Given the description of an element on the screen output the (x, y) to click on. 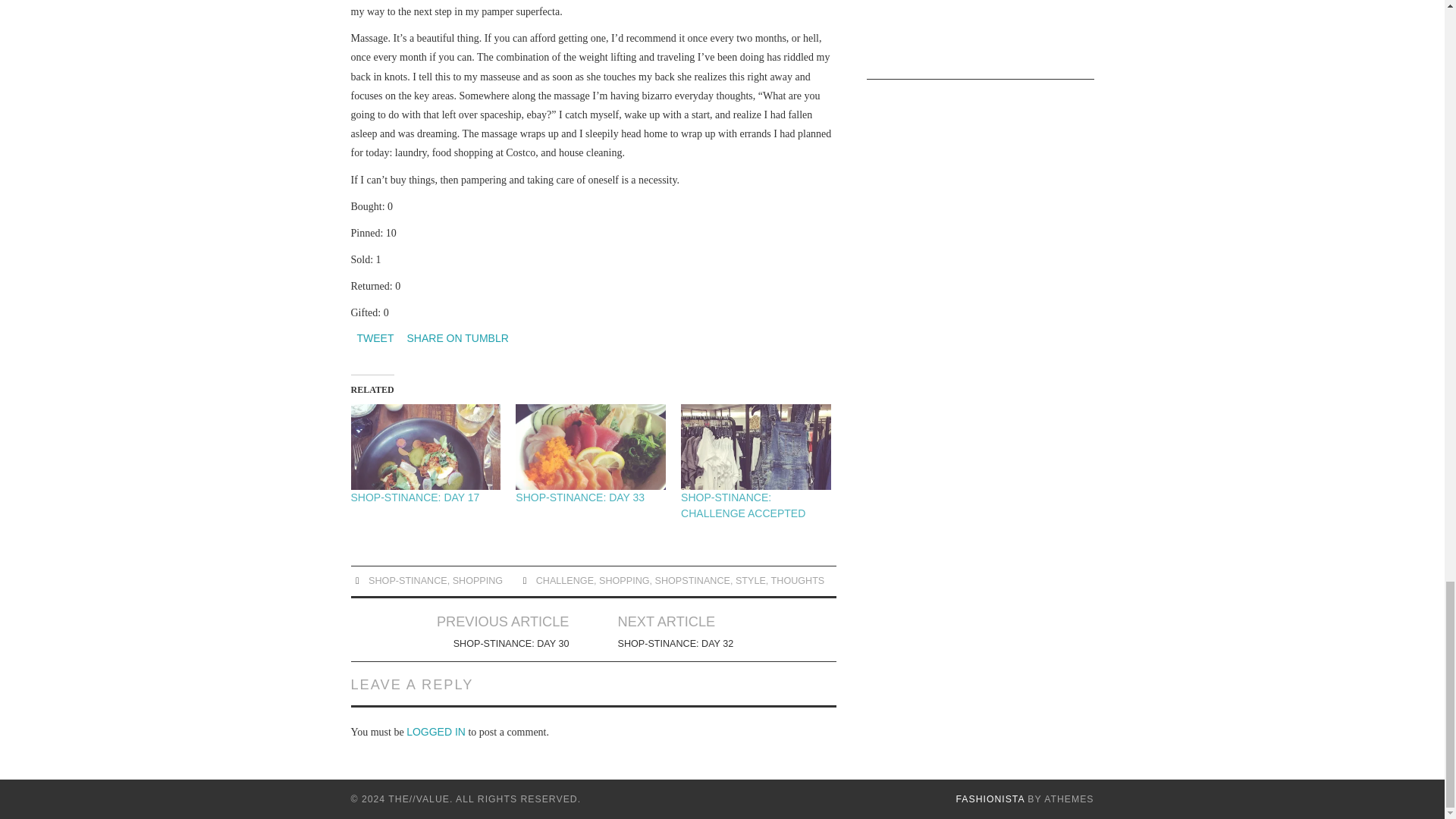
Shop-stinance: Day 33 (590, 446)
Shop-stinance: Day 17 (414, 497)
Shop-stinance: Challenge Accepted (743, 505)
Shop-stinance: Challenge Accepted (756, 446)
Shop-stinance: Day 33 (580, 497)
Share on Tumblr (457, 336)
TWEET (374, 336)
Shop-stinance: Day 17 (425, 446)
